Given the description of an element on the screen output the (x, y) to click on. 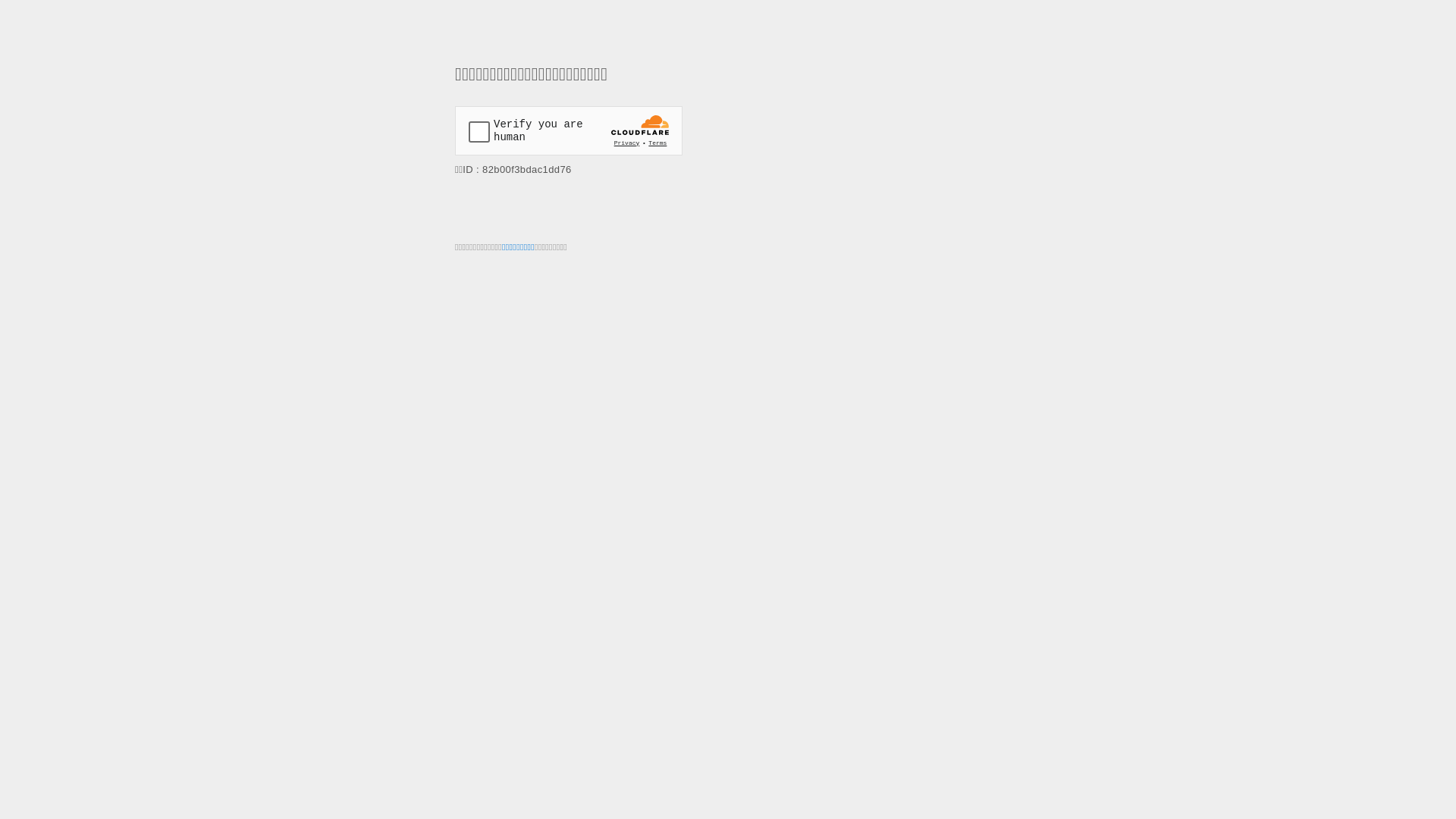
Widget containing a Cloudflare security challenge Element type: hover (568, 130)
